Given the description of an element on the screen output the (x, y) to click on. 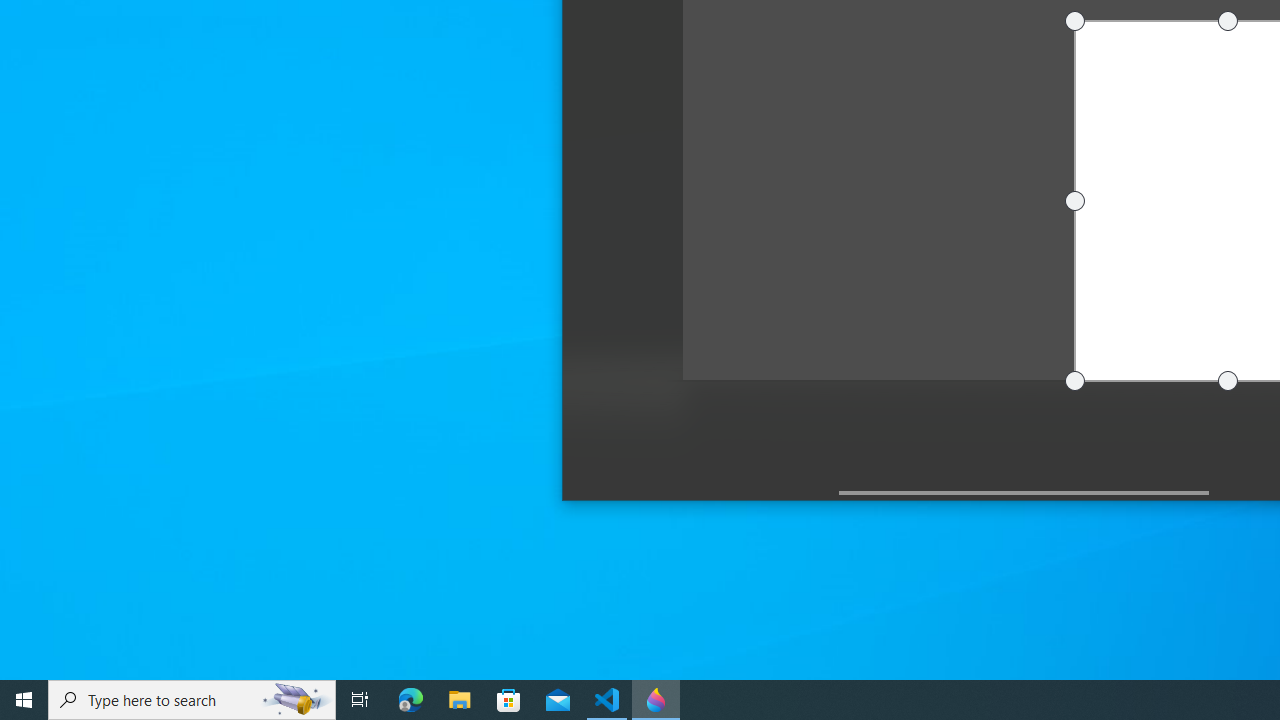
Horizontal Large Decrease (700, 492)
Paint 3D - 1 running window (656, 699)
